Given the description of an element on the screen output the (x, y) to click on. 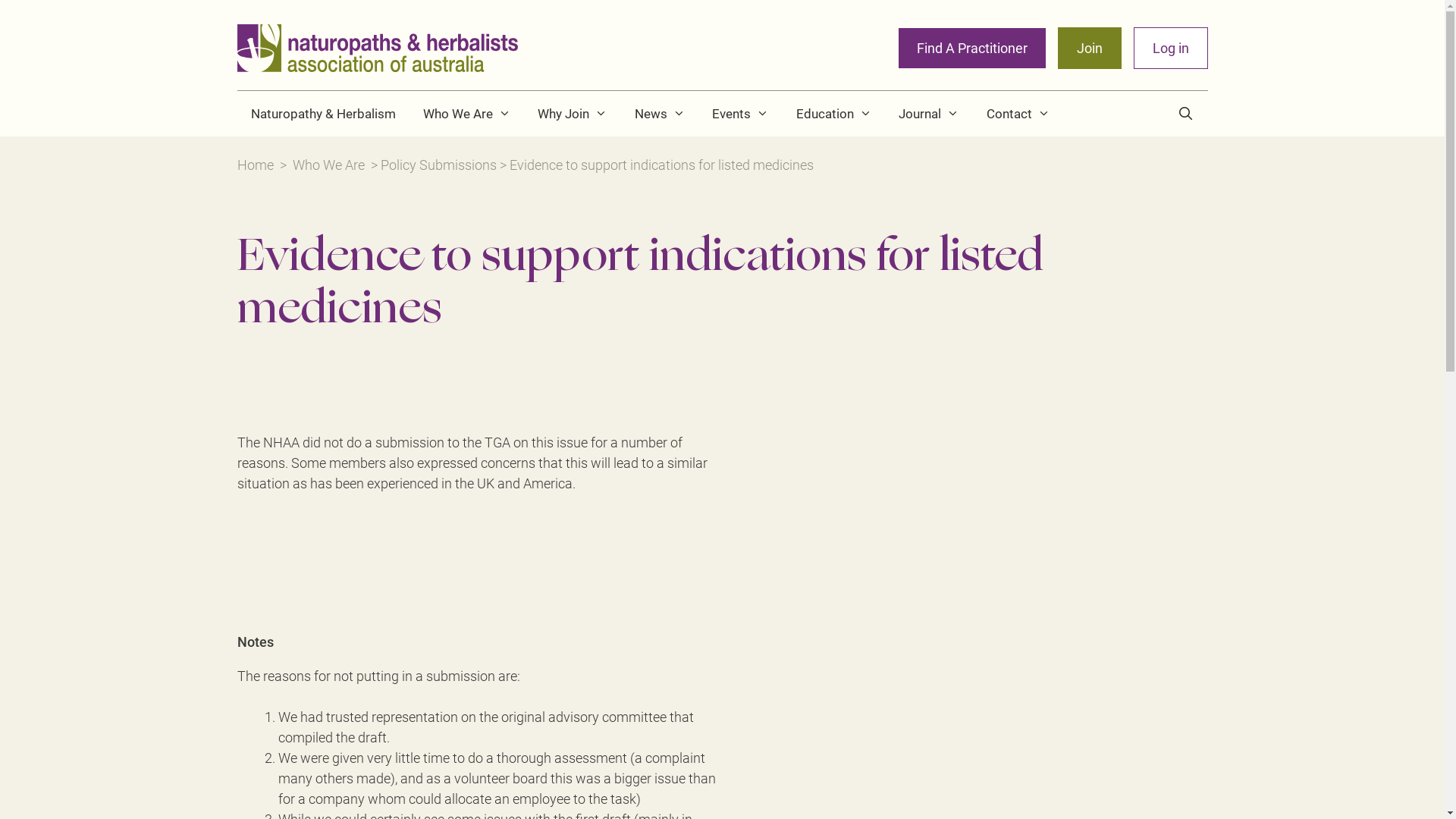
Find A Practitioner Element type: text (970, 48)
Naturopathy & Herbalism Element type: text (322, 113)
Join Element type: text (1088, 48)
Education Element type: text (833, 113)
Home Element type: text (254, 164)
Log in Element type: text (1169, 48)
Policy Submissions Element type: text (438, 164)
News Element type: text (660, 113)
Why Join Element type: text (572, 113)
Naturopaths & Herbalists Association of Australia (NHAA) Element type: hover (376, 48)
Naturopaths & Herbalists Association of Australia (NHAA) Element type: hover (376, 46)
Who We Are Element type: text (328, 164)
Events Element type: text (740, 113)
Who We Are Element type: text (466, 113)
Journal Element type: text (928, 113)
Contact Element type: text (1017, 113)
